Given the description of an element on the screen output the (x, y) to click on. 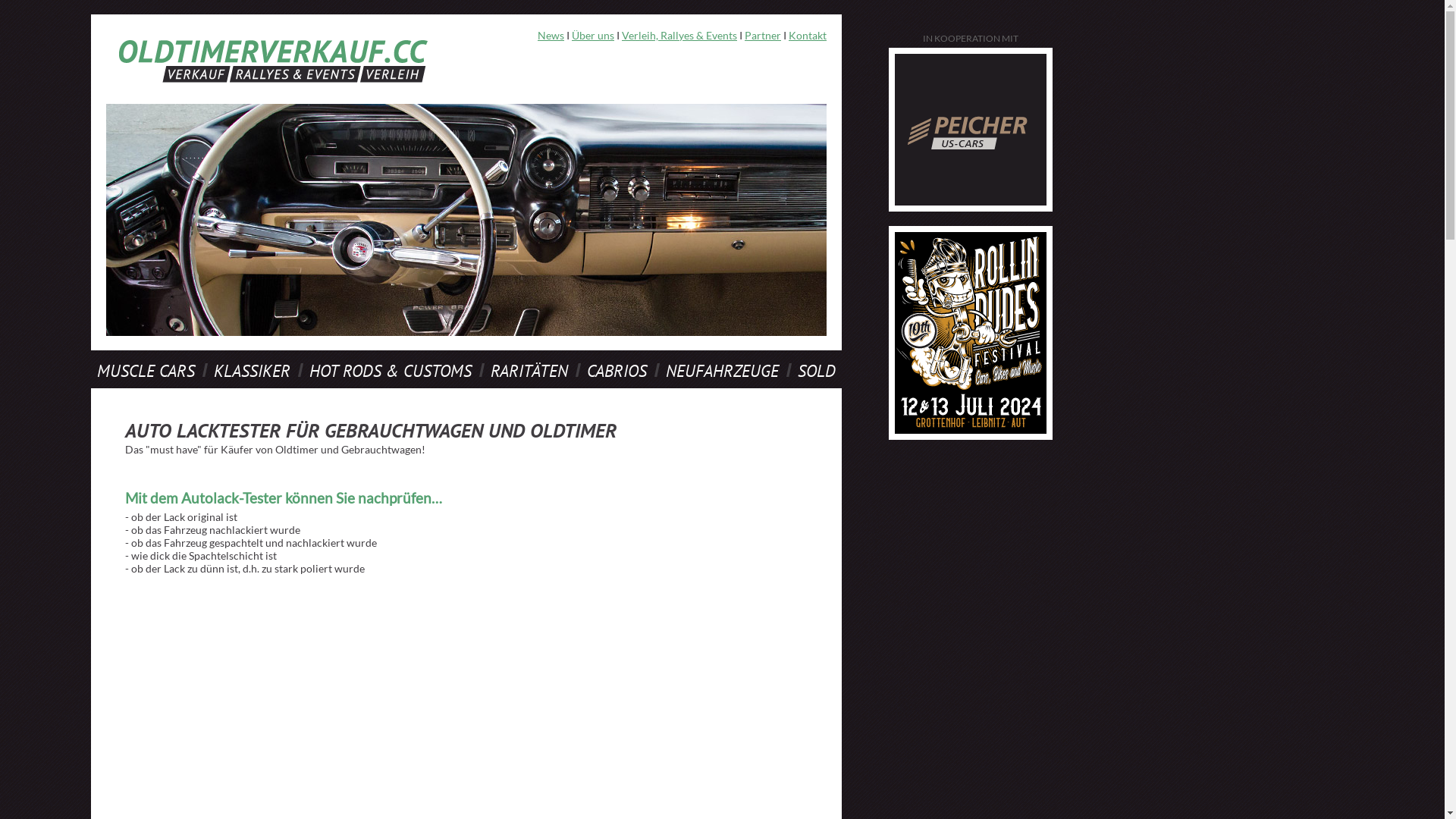
News Element type: text (550, 34)
HOT RODS & CUSTOMS Element type: text (390, 370)
CABRIOS Element type: text (616, 370)
Verleih, Rallyes & Events Element type: text (679, 34)
Kontakt Element type: text (807, 34)
Partner Element type: text (762, 34)
YouTube video player Element type: hover (646, 703)
SOLD Element type: text (816, 370)
NEUFAHRZEUGE Element type: text (722, 370)
YouTube video player Element type: hover (286, 703)
MUSCLE CARS Element type: text (145, 370)
KLASSIKER Element type: text (251, 370)
